Given the description of an element on the screen output the (x, y) to click on. 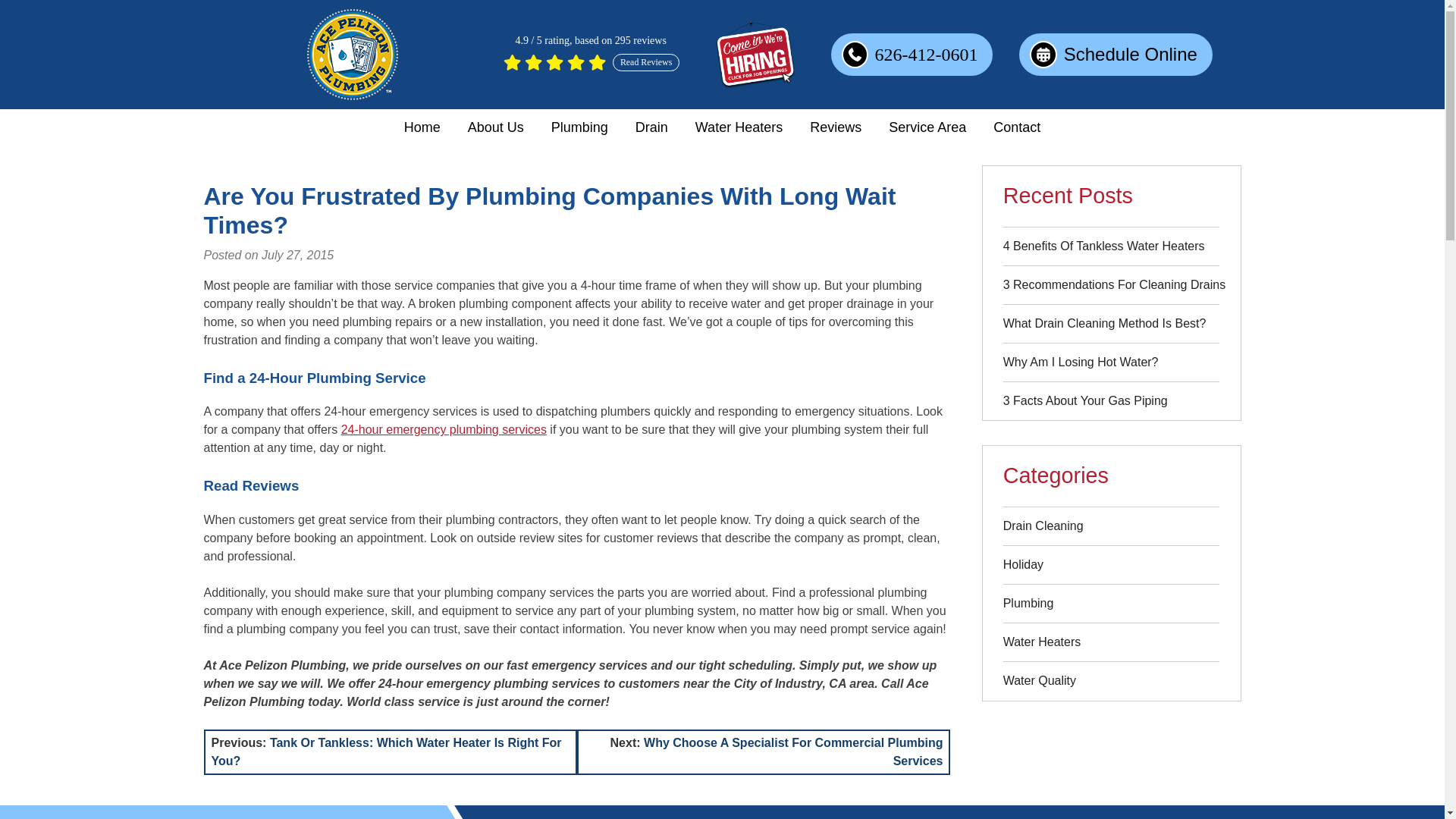
626-412-0601 (911, 54)
Schedule Online (1115, 54)
Read Reviews (590, 62)
About Us (495, 127)
Home (422, 127)
Plumbing (579, 127)
Drain (651, 127)
